Given the description of an element on the screen output the (x, y) to click on. 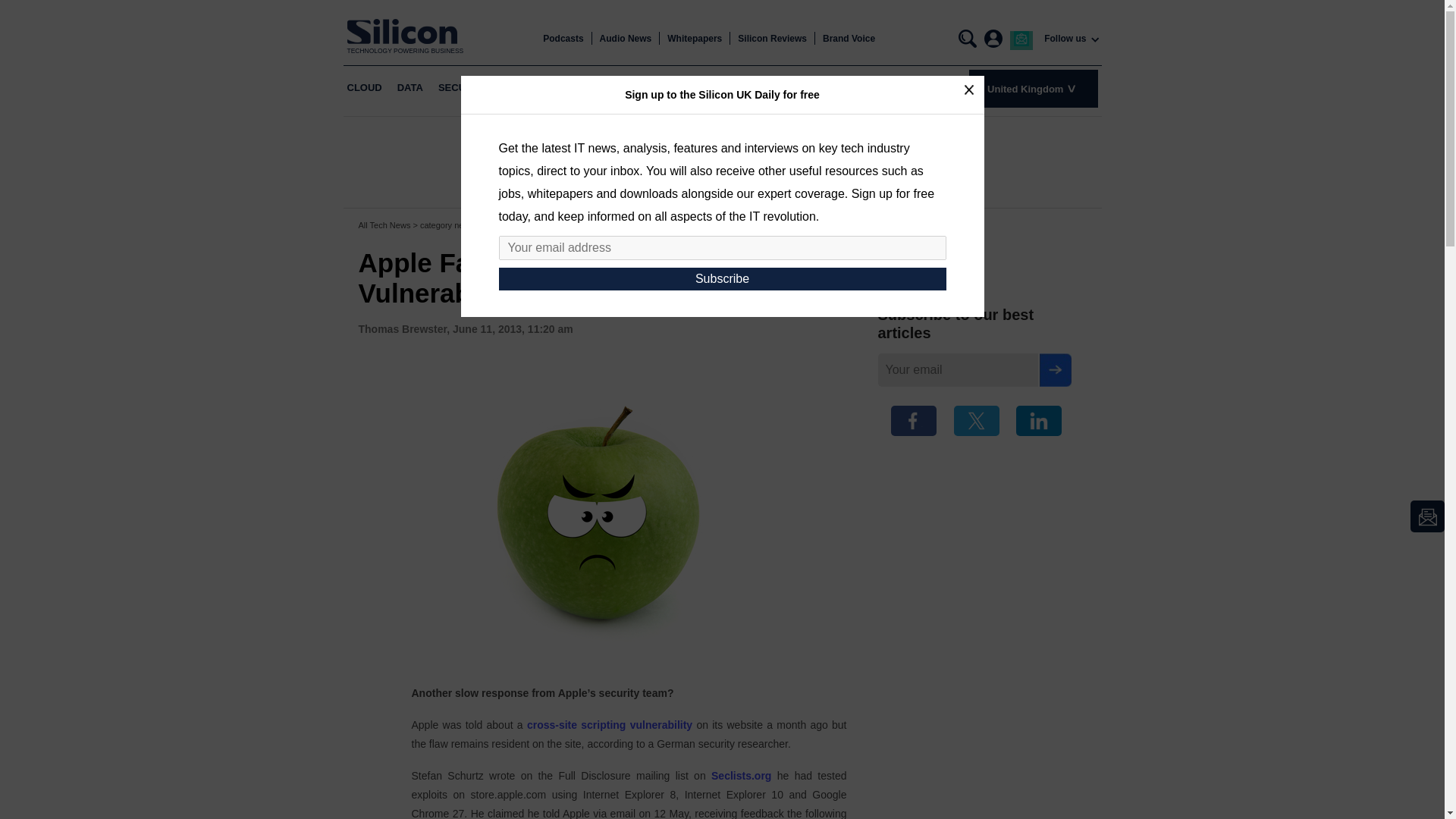
Brand Voice (848, 38)
Whitepapers (694, 38)
IT LIFE (750, 87)
Podcasts (563, 38)
Follow us (1064, 38)
United Kingdom (1033, 88)
MARKETING (533, 87)
Silicon UK (405, 31)
Silicon Reviews (772, 38)
SECURITY (462, 87)
ENTREPRENEUR (677, 87)
CLOUD (363, 87)
DATA (409, 87)
FINANCE (599, 87)
paypal-17-year-old-bug-bounty (610, 725)
